Given the description of an element on the screen output the (x, y) to click on. 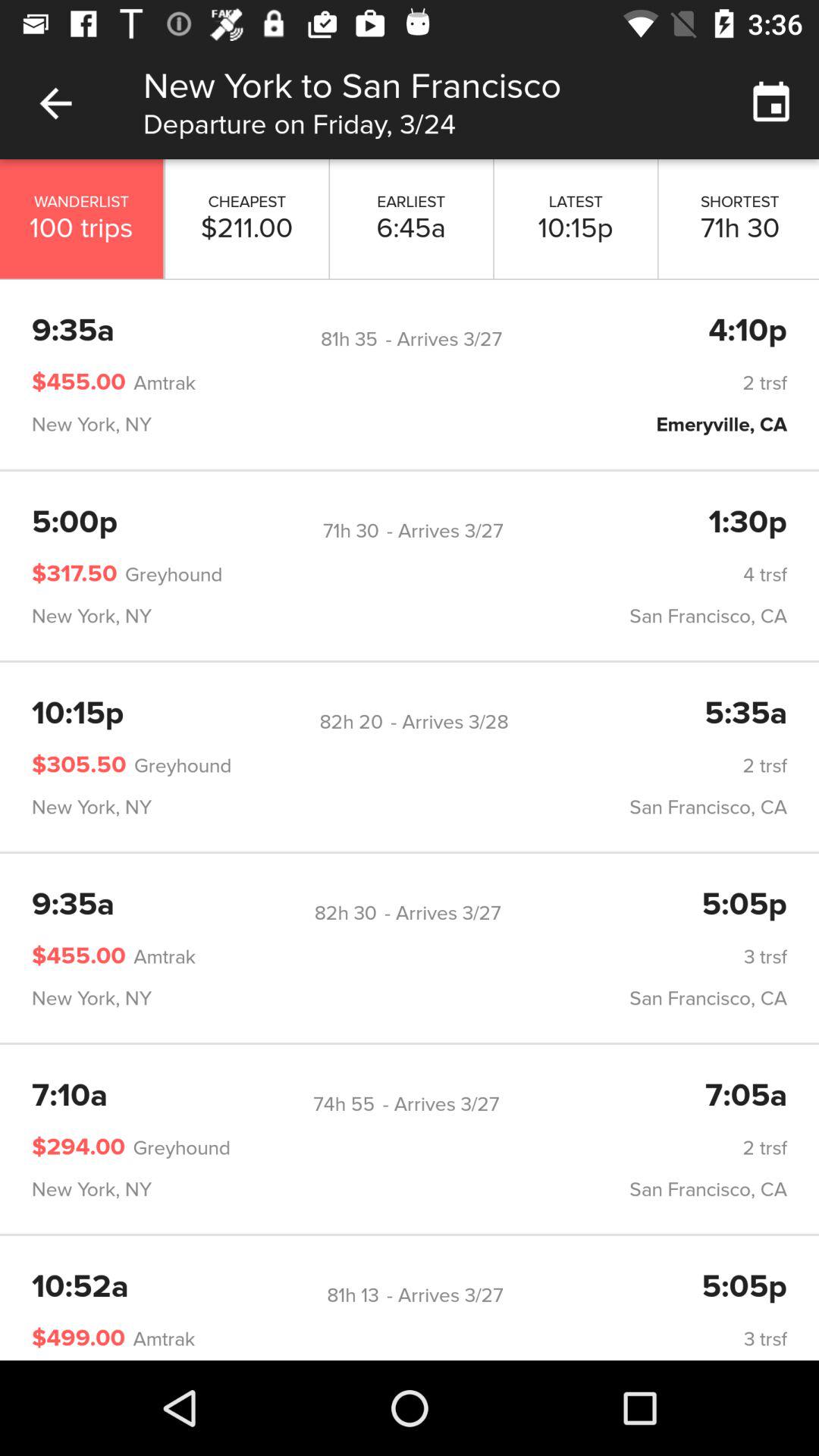
return to previous screen (55, 103)
